Given the description of an element on the screen output the (x, y) to click on. 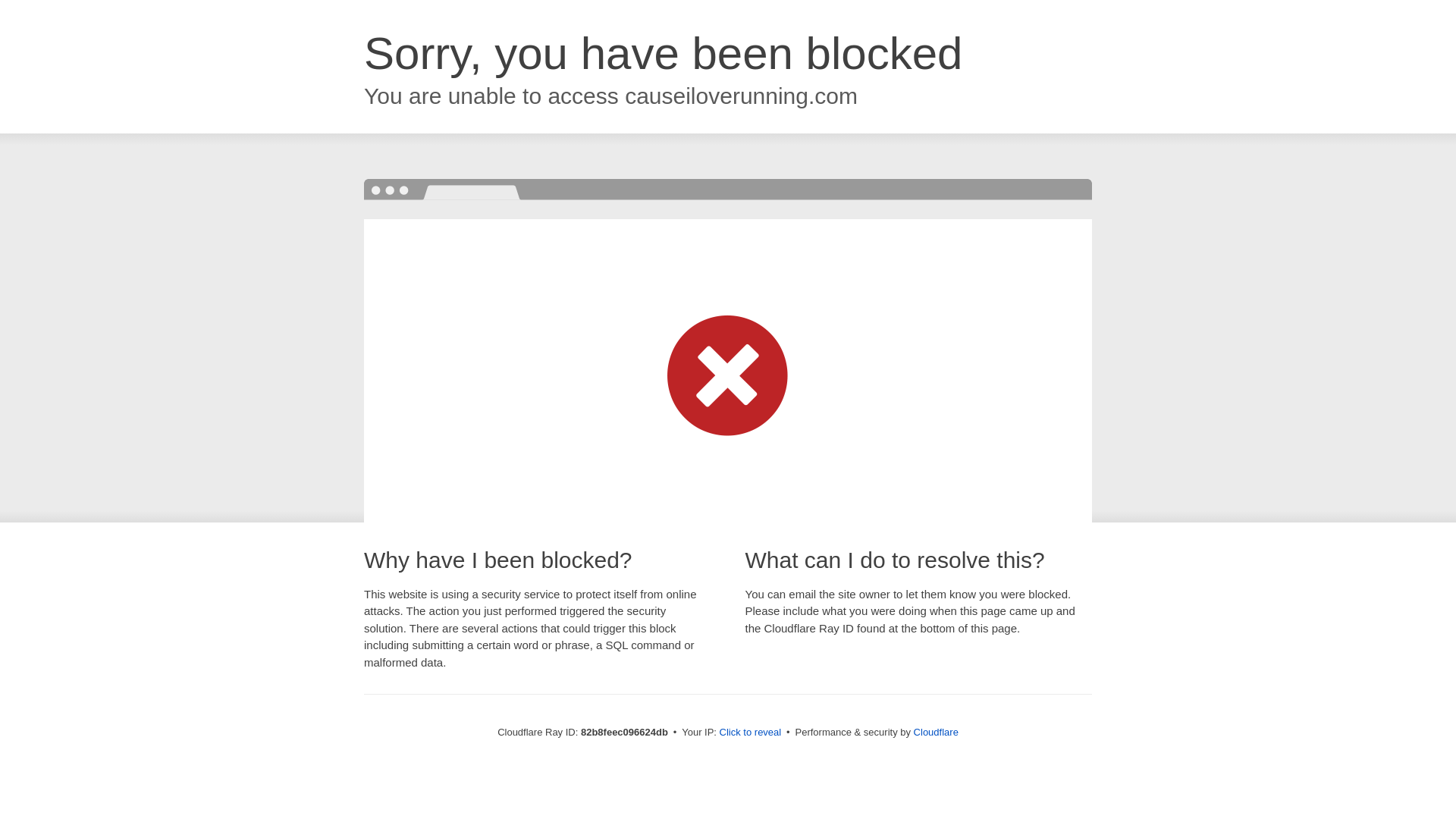
Cloudflare Element type: text (935, 731)
Click to reveal Element type: text (750, 732)
